Given the description of an element on the screen output the (x, y) to click on. 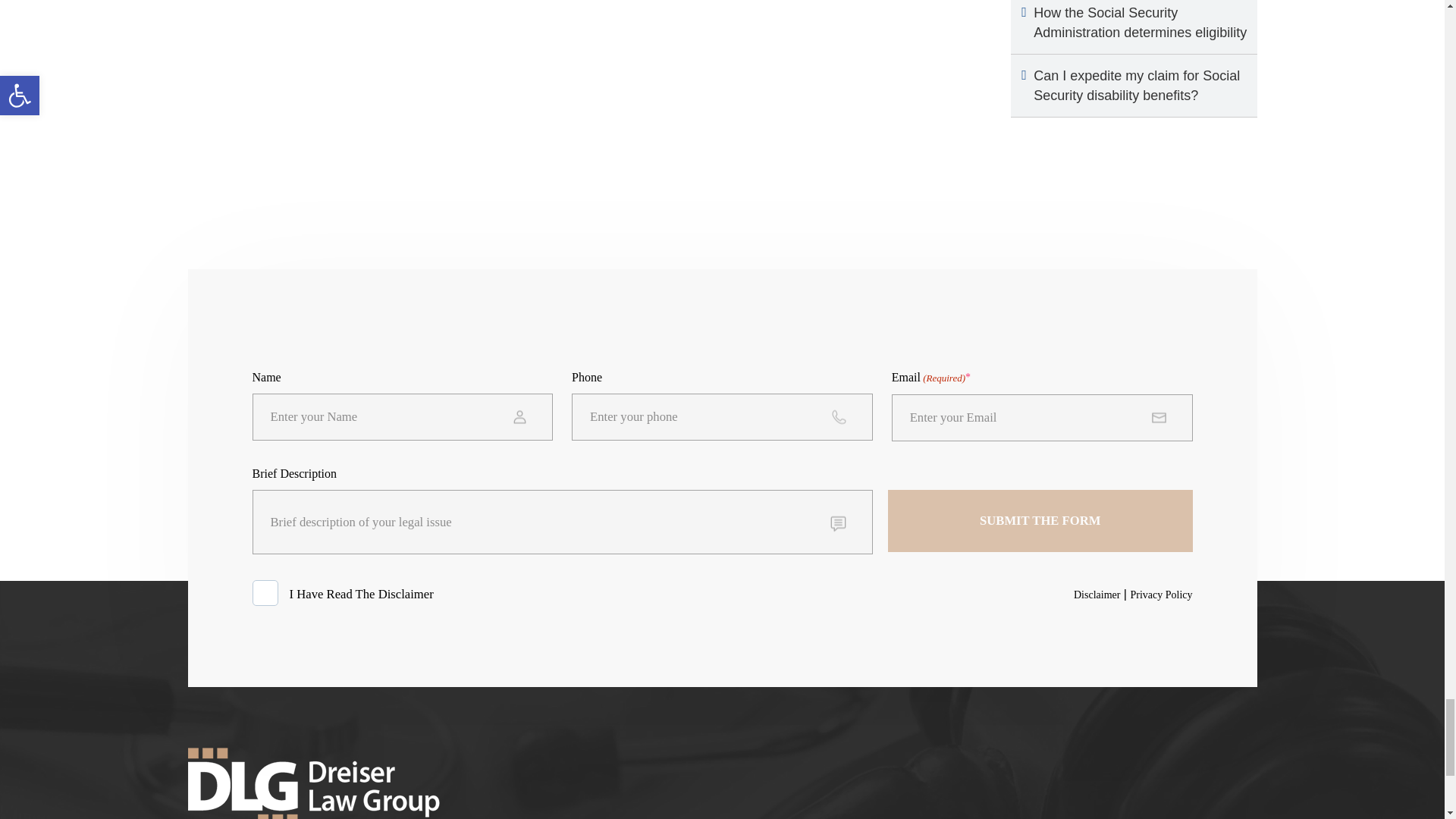
Submit the form (1040, 520)
